Given the description of an element on the screen output the (x, y) to click on. 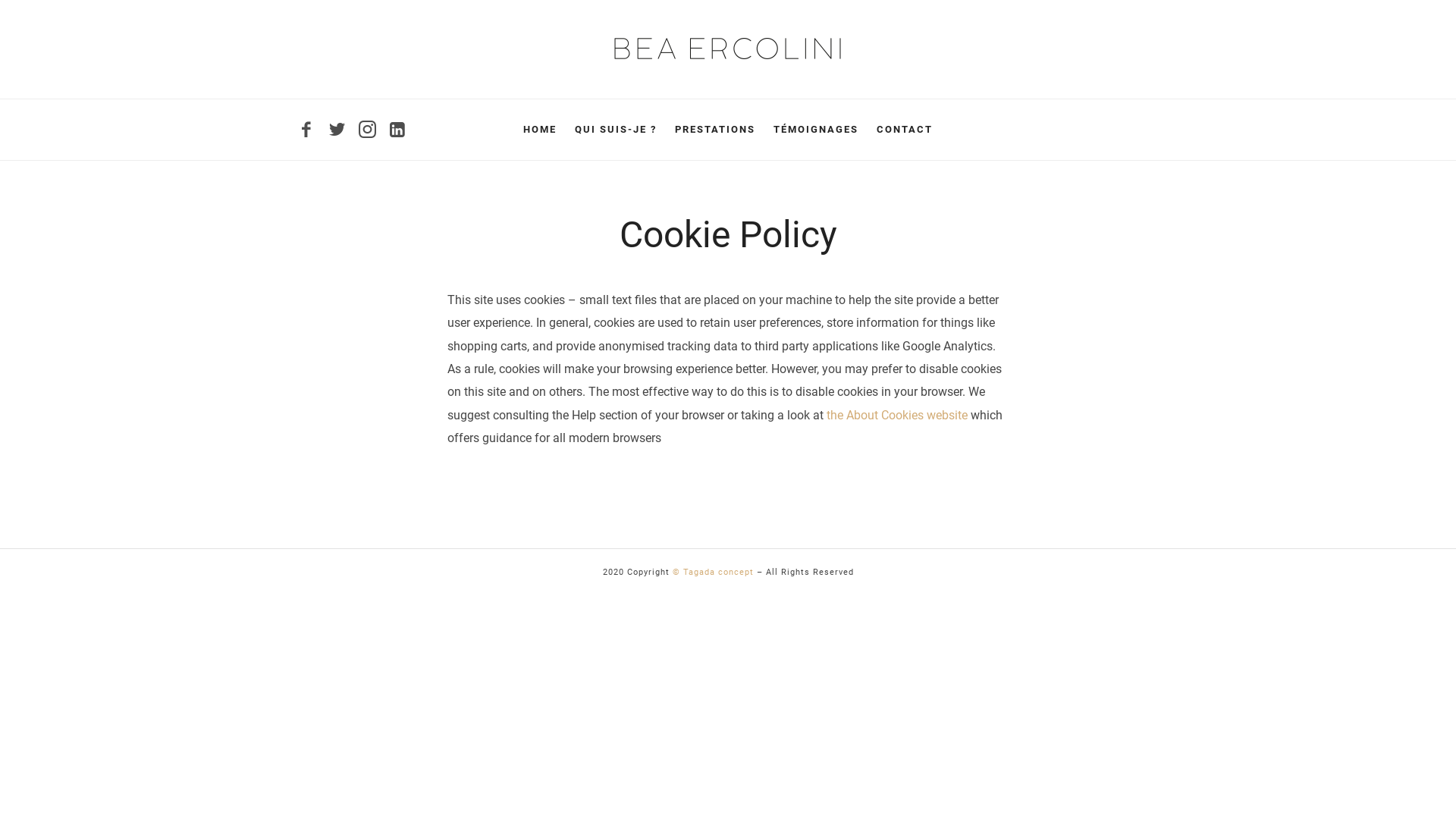
QUI SUIS-JE ? Element type: text (615, 129)
Bea Ercolini Element type: text (727, 48)
the About Cookies website Element type: text (896, 414)
PRESTATIONS Element type: text (714, 129)
CONTACT Element type: text (904, 129)
HOME Element type: text (539, 129)
